Given the description of an element on the screen output the (x, y) to click on. 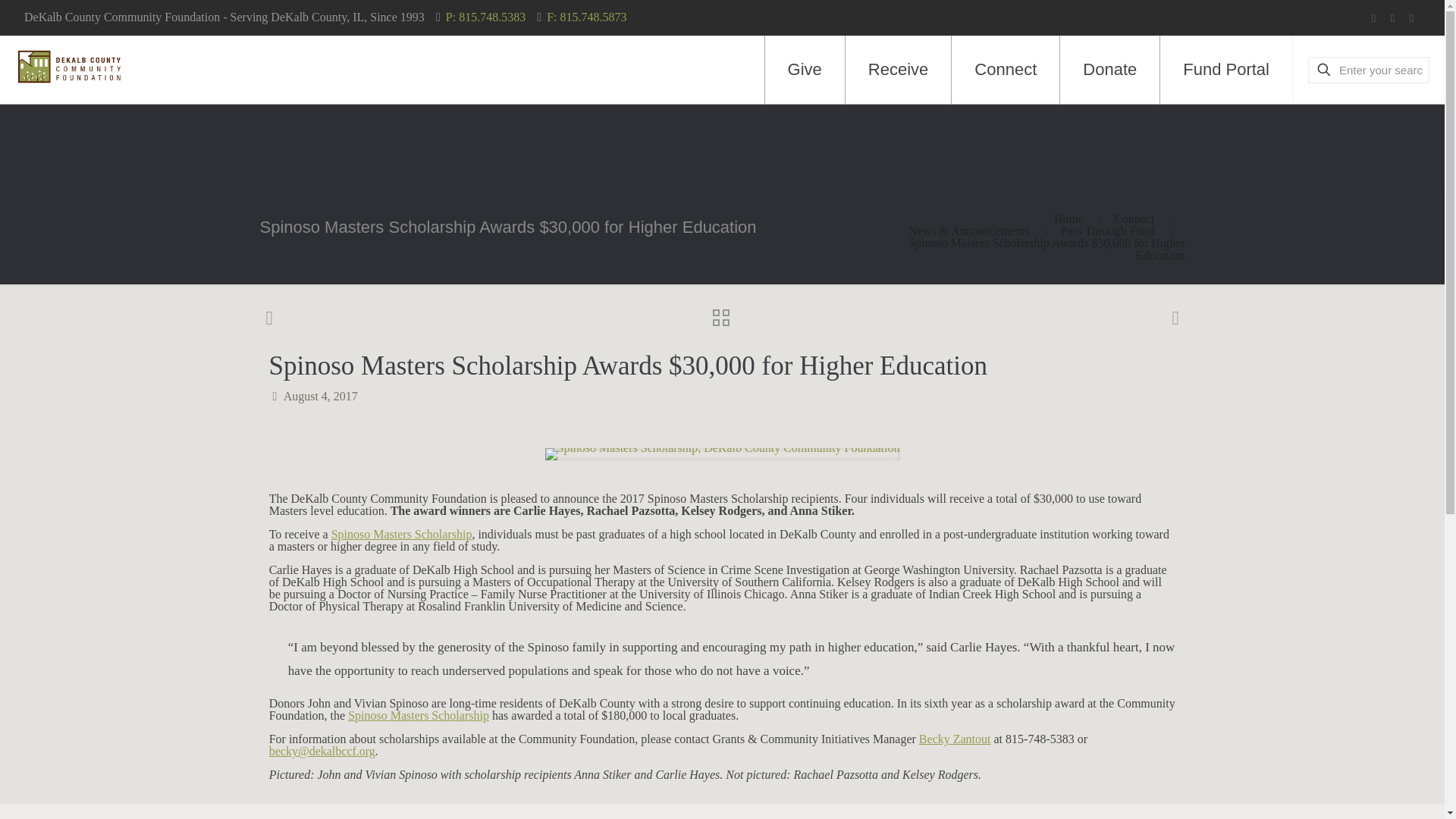
Facebook (1373, 18)
F: 815.748.5873 (586, 16)
P: 815.748.5383 (485, 16)
DeKalb County Community Foundation (68, 66)
Give (804, 70)
YouTube (1392, 18)
LinkedIn (1411, 18)
Receive (898, 70)
